Given the description of an element on the screen output the (x, y) to click on. 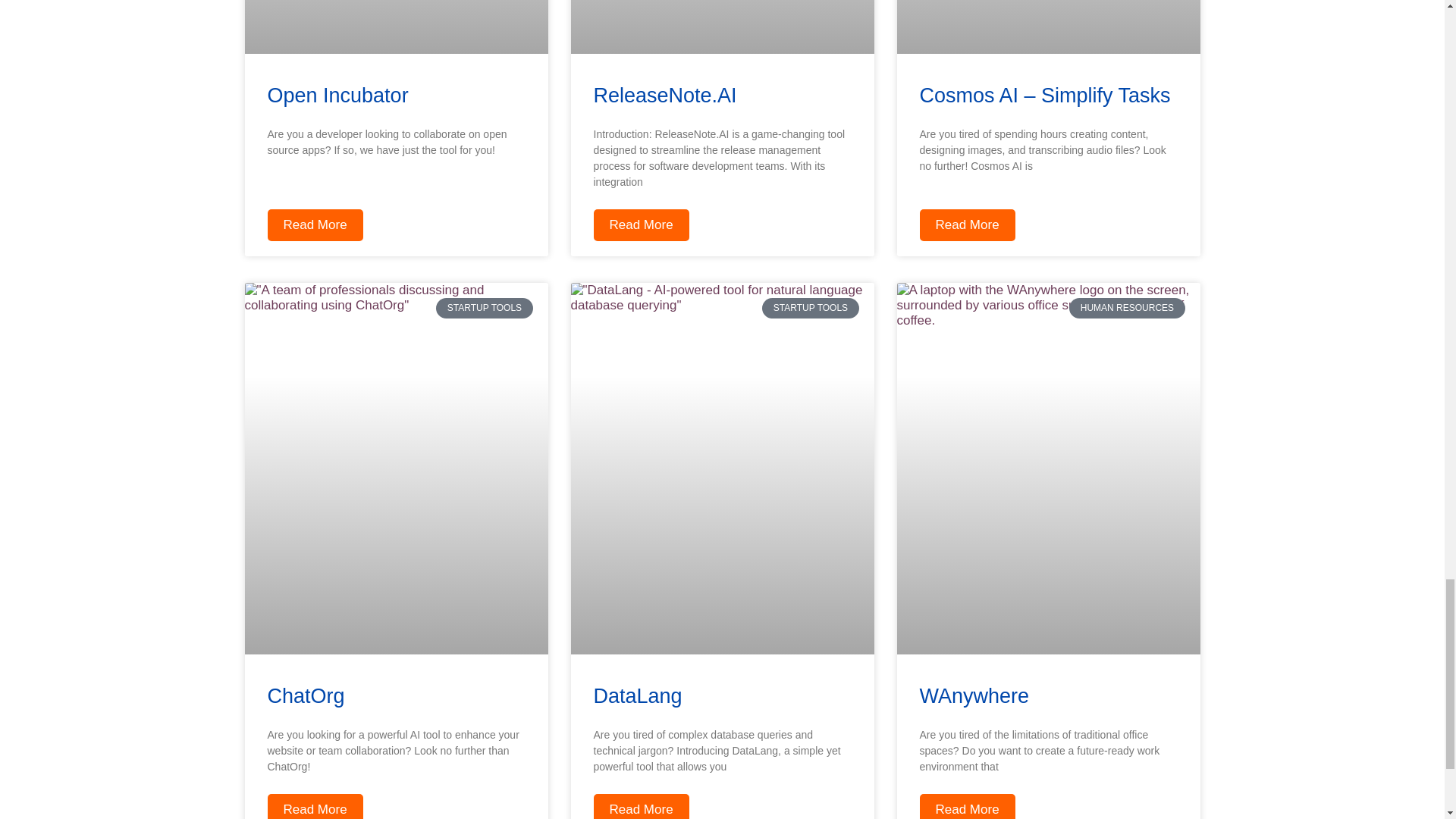
Open Incubator (336, 95)
DataLang (636, 695)
Read More (640, 224)
Read More (966, 806)
ReleaseNote.AI (664, 95)
Read More (314, 224)
Read More (966, 224)
ChatOrg (304, 695)
WAnywhere (973, 695)
Read More (314, 806)
